Given the description of an element on the screen output the (x, y) to click on. 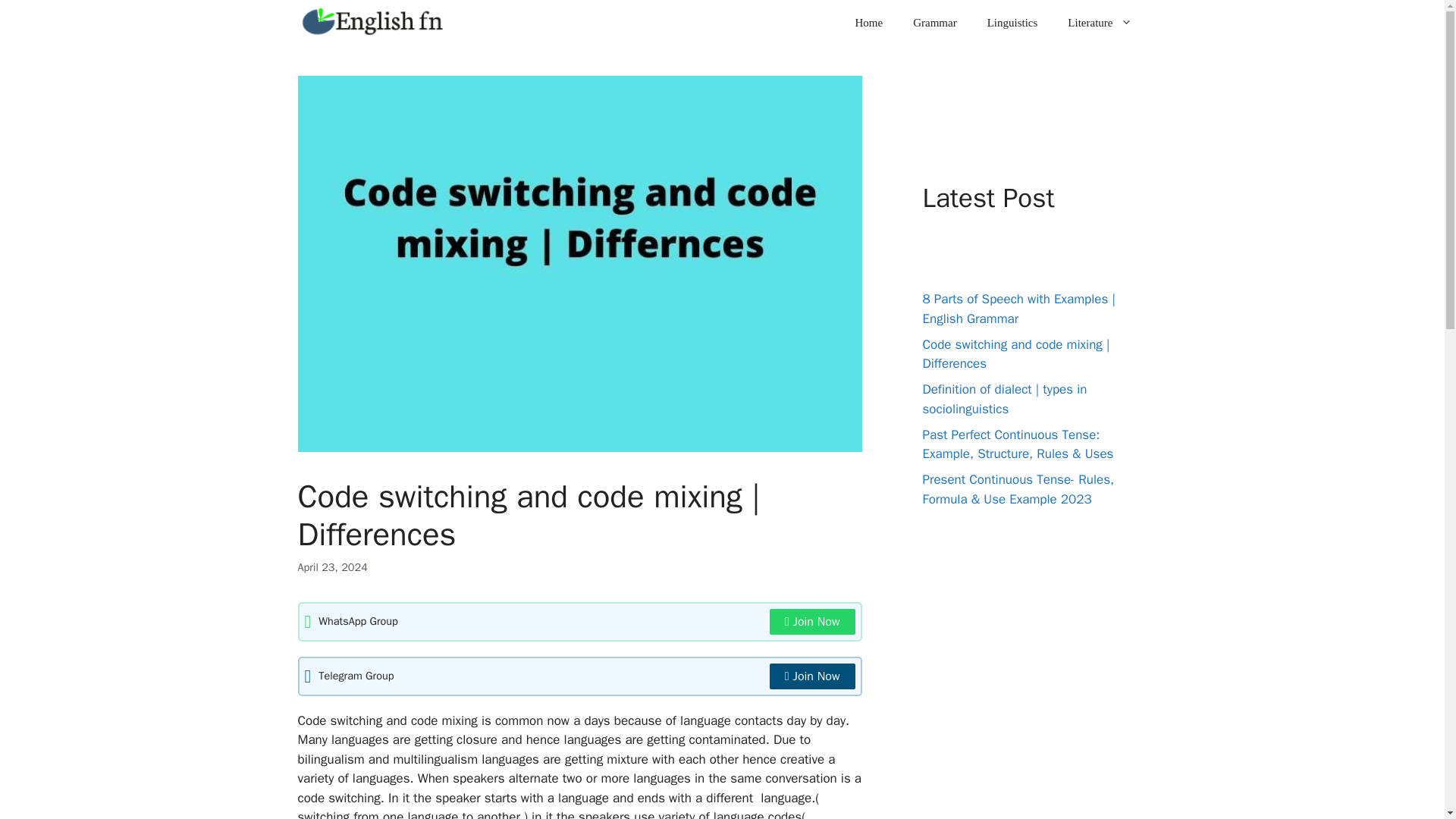
Join Now (813, 621)
Linguistics (1012, 22)
Join Now (813, 676)
Grammar (934, 22)
Literature (1099, 22)
English FN (374, 22)
Home (869, 22)
